Given the description of an element on the screen output the (x, y) to click on. 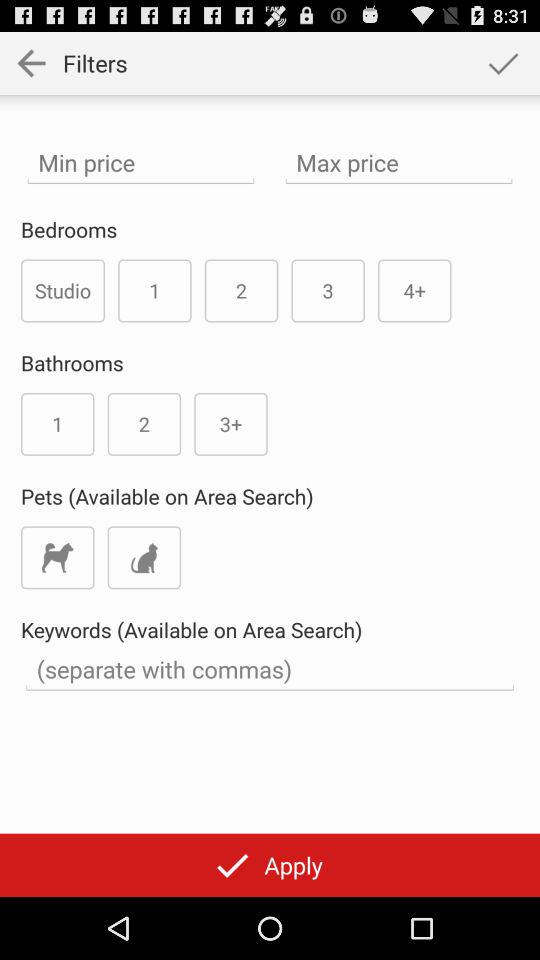
turn off icon next to the 3 (414, 290)
